Given the description of an element on the screen output the (x, y) to click on. 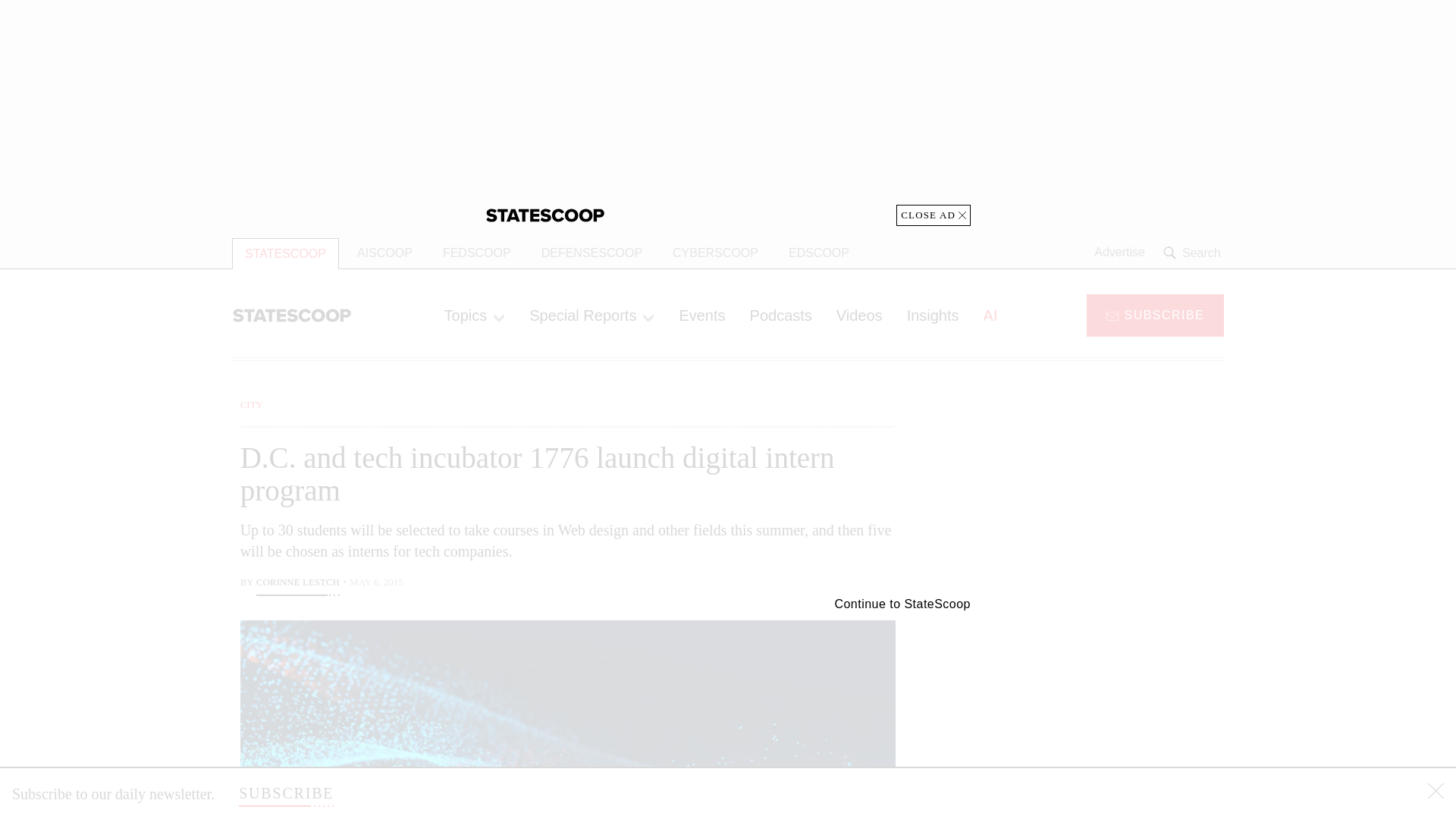
CYBERSCOOP (715, 253)
FEDSCOOP (476, 253)
STATESCOOP (285, 253)
EDSCOOP (818, 253)
Advertise (1119, 252)
Corinne Lestch (297, 583)
Topics (475, 315)
AI (990, 315)
Search (1193, 252)
SUBSCRIBE (1155, 314)
Videos (859, 315)
DEFENSESCOOP (591, 253)
AISCOOP (385, 253)
3rd party ad content (1101, 492)
